Given the description of an element on the screen output the (x, y) to click on. 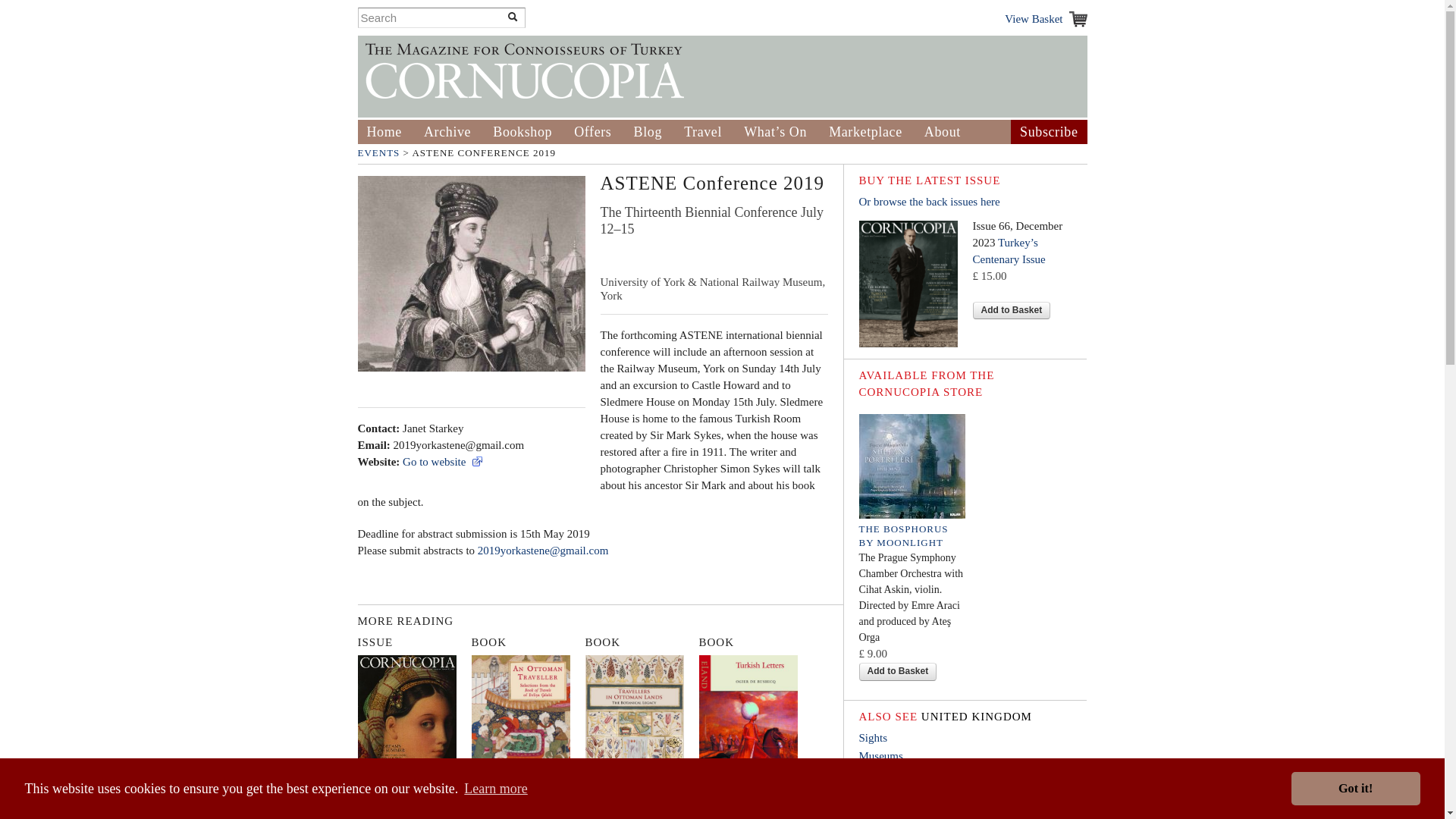
Twitter Tweet Button (622, 253)
Home (383, 131)
Travel (703, 131)
Go to website (443, 461)
Subscribe (1048, 131)
Offers (592, 131)
Got it! (1356, 788)
Archive (446, 131)
Blog (647, 131)
Bookshop (522, 131)
Learn more (496, 788)
About (942, 131)
View Basket (1045, 18)
Marketplace (865, 131)
EVENTS (379, 152)
